Given the description of an element on the screen output the (x, y) to click on. 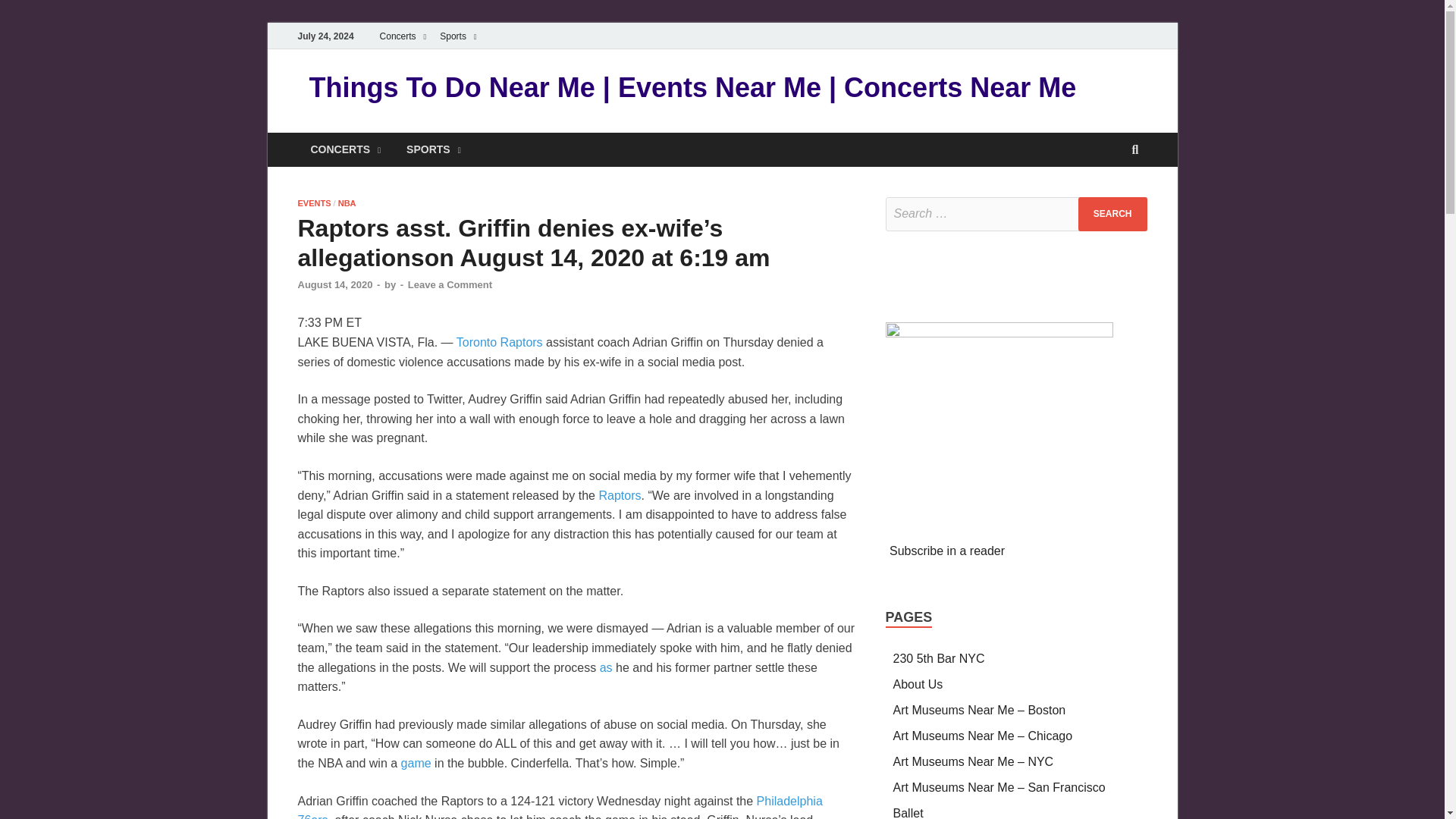
Concerts (402, 35)
Leave a Comment (449, 284)
as (605, 667)
Sports (457, 35)
Toronto Raptors (500, 341)
Search (1112, 213)
EVENTS (313, 203)
NBA (346, 203)
Search (1112, 213)
game (415, 762)
August 14, 2020 (334, 284)
CONCERTS (345, 149)
Raptors (619, 495)
SPORTS (433, 149)
Philadelphia 76ers (559, 806)
